Given the description of an element on the screen output the (x, y) to click on. 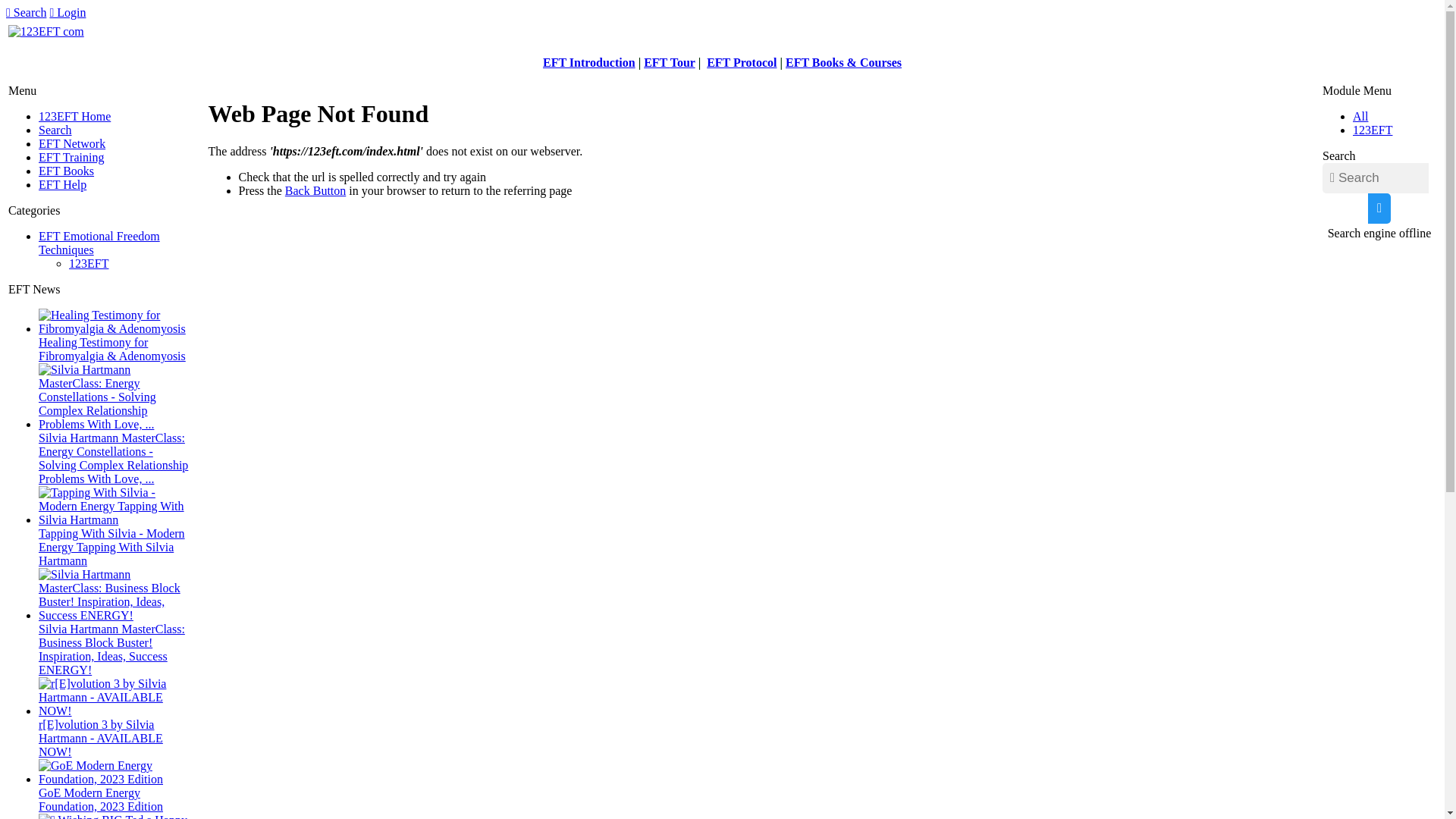
123EFT Element type: text (88, 263)
Tour Element type: text (682, 62)
EFT Training Element type: text (70, 156)
EFT Introduction Element type: text (588, 62)
r[E]volution 3 by Silvia Hartmann - AVAILABLE NOW! Element type: text (100, 738)
All Element type: text (1360, 115)
EFT Books & Courses Element type: text (843, 62)
EFT Emotional Freedom Techniques For Beginners Element type: hover (46, 31)
GoE Modern Energy Foundation, 2023 Edition Element type: text (100, 799)
r[E]volution 3 by Silvia Hartmann - AVAILABLE NOW! Element type: hover (114, 697)
Back Button Element type: text (315, 190)
EFT Emotional Freedom Techniques Element type: text (99, 242)
123EFT Element type: text (1372, 129)
EFT Books Element type: text (66, 170)
Healing Testimony for Fibromyalgia & Adenomyosis Element type: text (111, 348)
EFT Network Element type: text (71, 143)
Healing Testimony for Fibromyalgia & Adenomyosis Element type: hover (114, 321)
EFT Protocol Element type: text (741, 62)
Search Element type: text (55, 129)
GoE Modern Energy Foundation, 2023 Edition Element type: hover (114, 772)
EFT Element type: text (656, 62)
EFT Help Element type: text (62, 184)
123EFT Home Element type: text (74, 115)
